Given the description of an element on the screen output the (x, y) to click on. 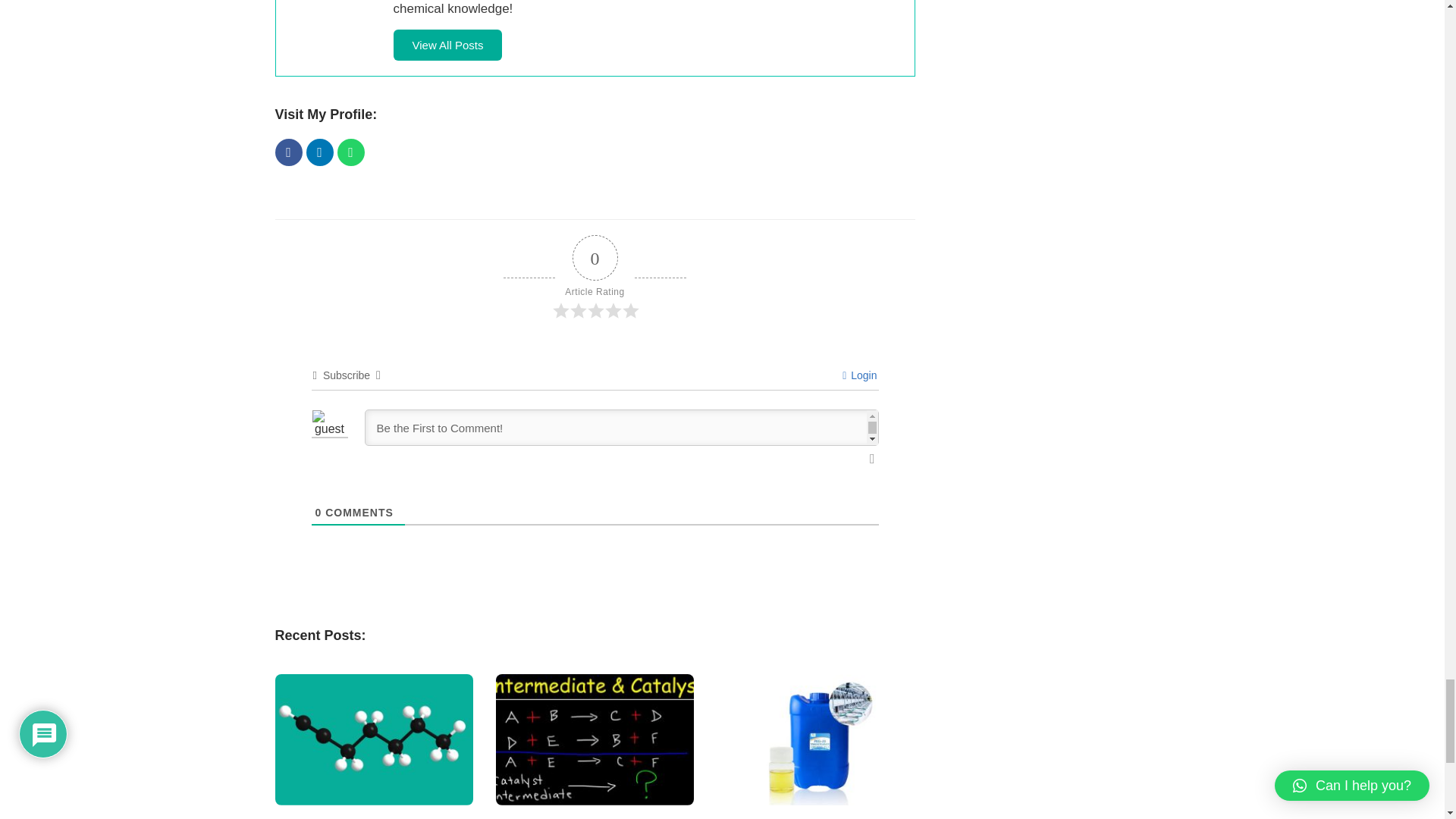
Login (859, 375)
View All Posts (447, 44)
